Given the description of an element on the screen output the (x, y) to click on. 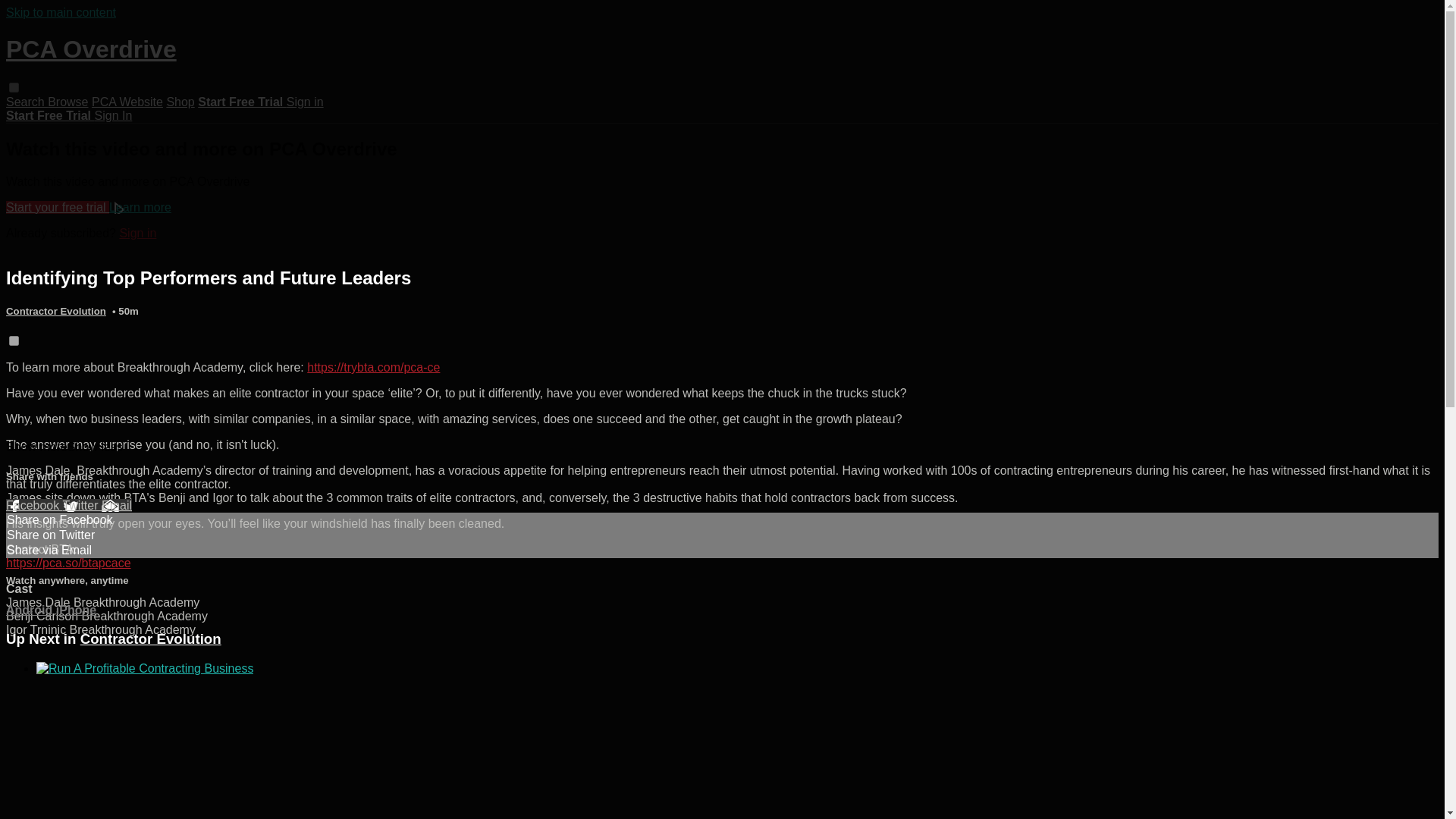
Benji Carlson (43, 615)
PCA Website (127, 101)
Skip to main content (60, 11)
Search (26, 101)
Sign in (137, 232)
on (13, 340)
Start your free trial (57, 206)
Browse (67, 101)
Sign In (113, 115)
Android (28, 609)
on (13, 87)
PCA Overdrive (90, 49)
Contractor Evolution (150, 638)
Contractor Evolution (55, 310)
Start Free Trial (49, 115)
